Given the description of an element on the screen output the (x, y) to click on. 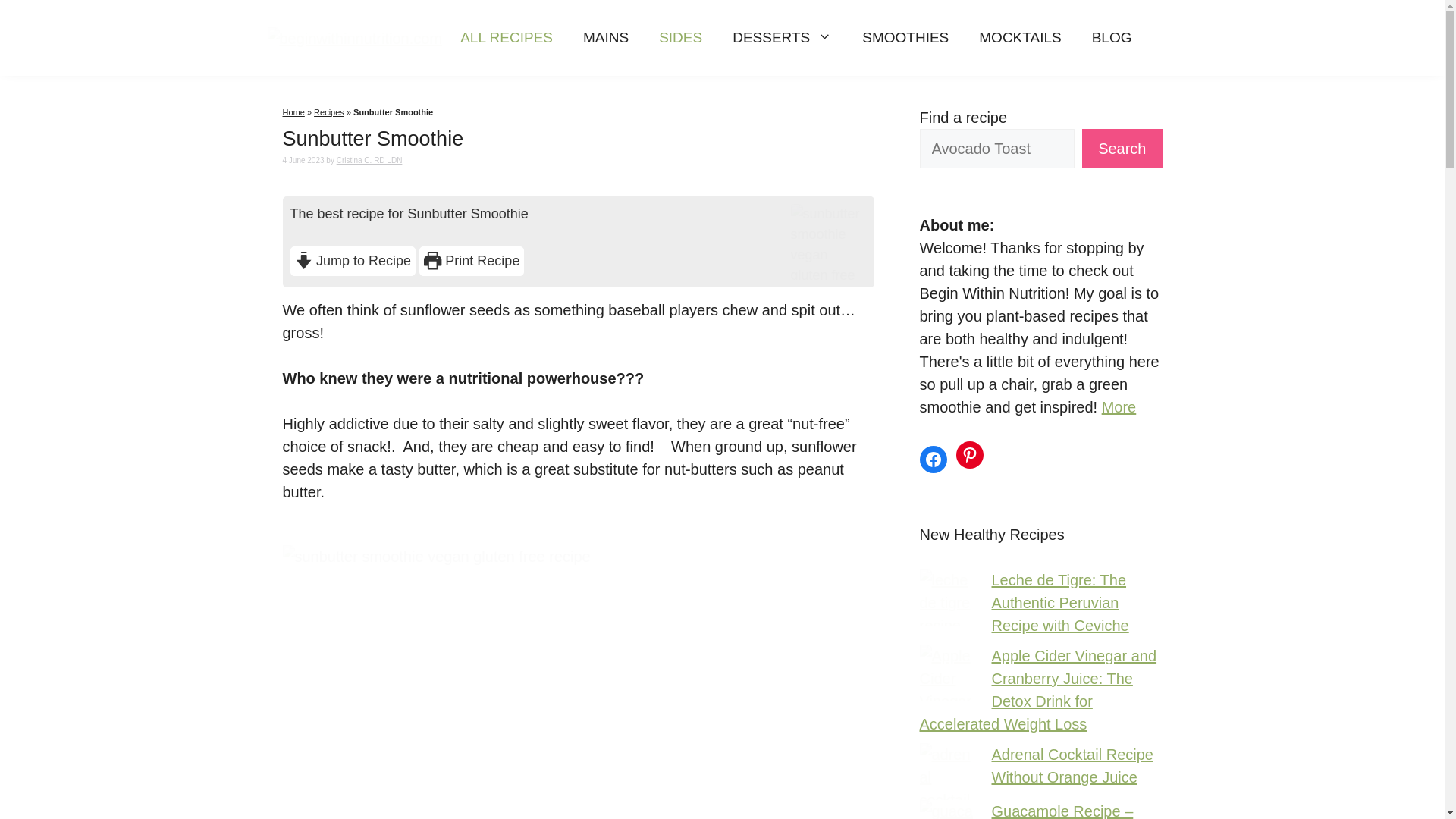
SIDES (680, 37)
Print Recipe (471, 261)
MOCKTAILS (1019, 37)
DESSERTS (782, 37)
Home (293, 112)
BLOG (1112, 37)
SMOOTHIES (905, 37)
Recipes (328, 112)
MAINS (605, 37)
View all posts by Cristina C. RD LDN (369, 160)
